Given the description of an element on the screen output the (x, y) to click on. 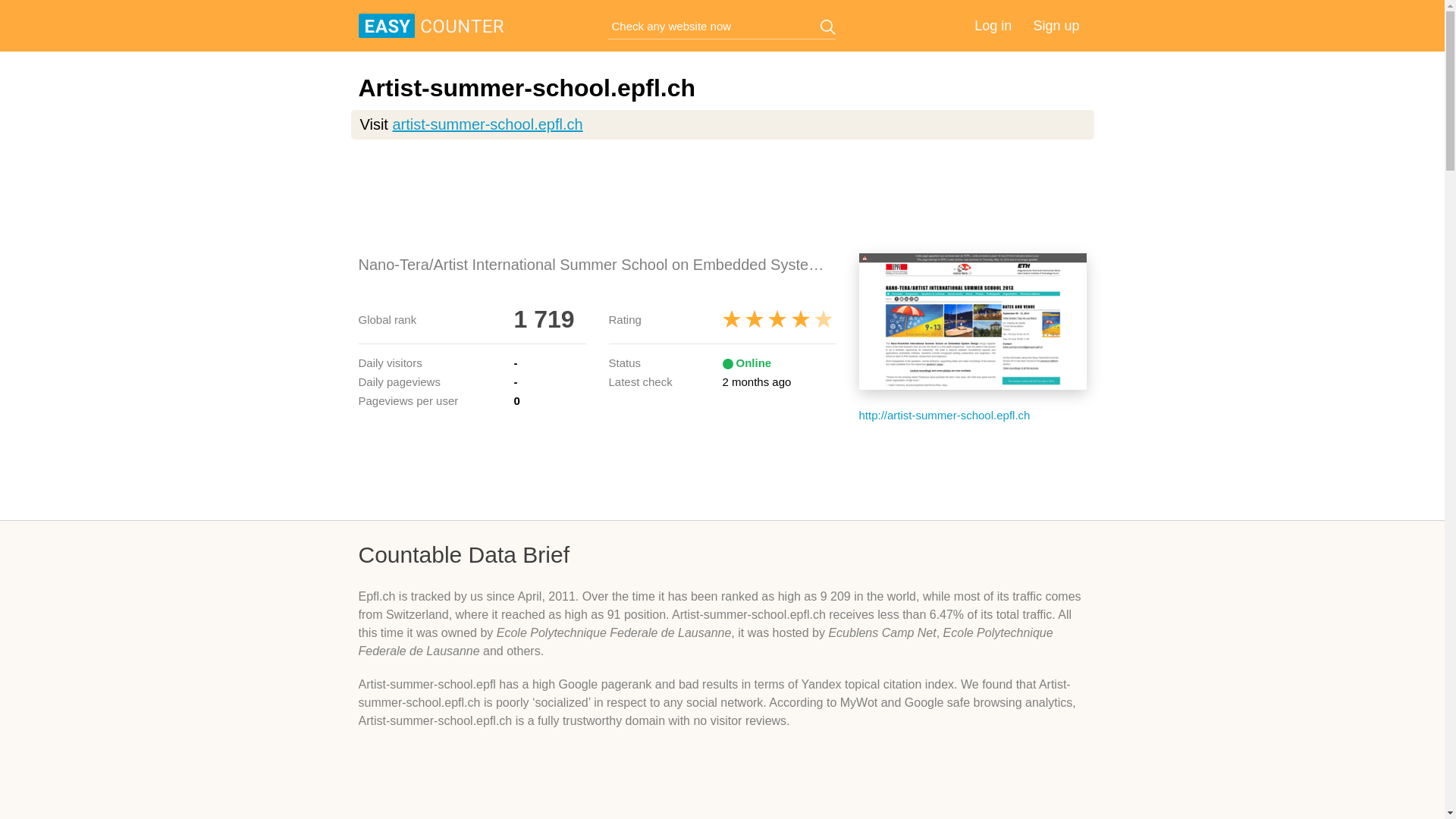
Advertisement (722, 785)
Log in (992, 25)
Advertisement (722, 470)
artist-summer-school.epfl.ch (486, 124)
Advertisement (722, 196)
Sign up (1056, 25)
Artist-summer-school.epfl.ch thumbnail (972, 321)
